Given the description of an element on the screen output the (x, y) to click on. 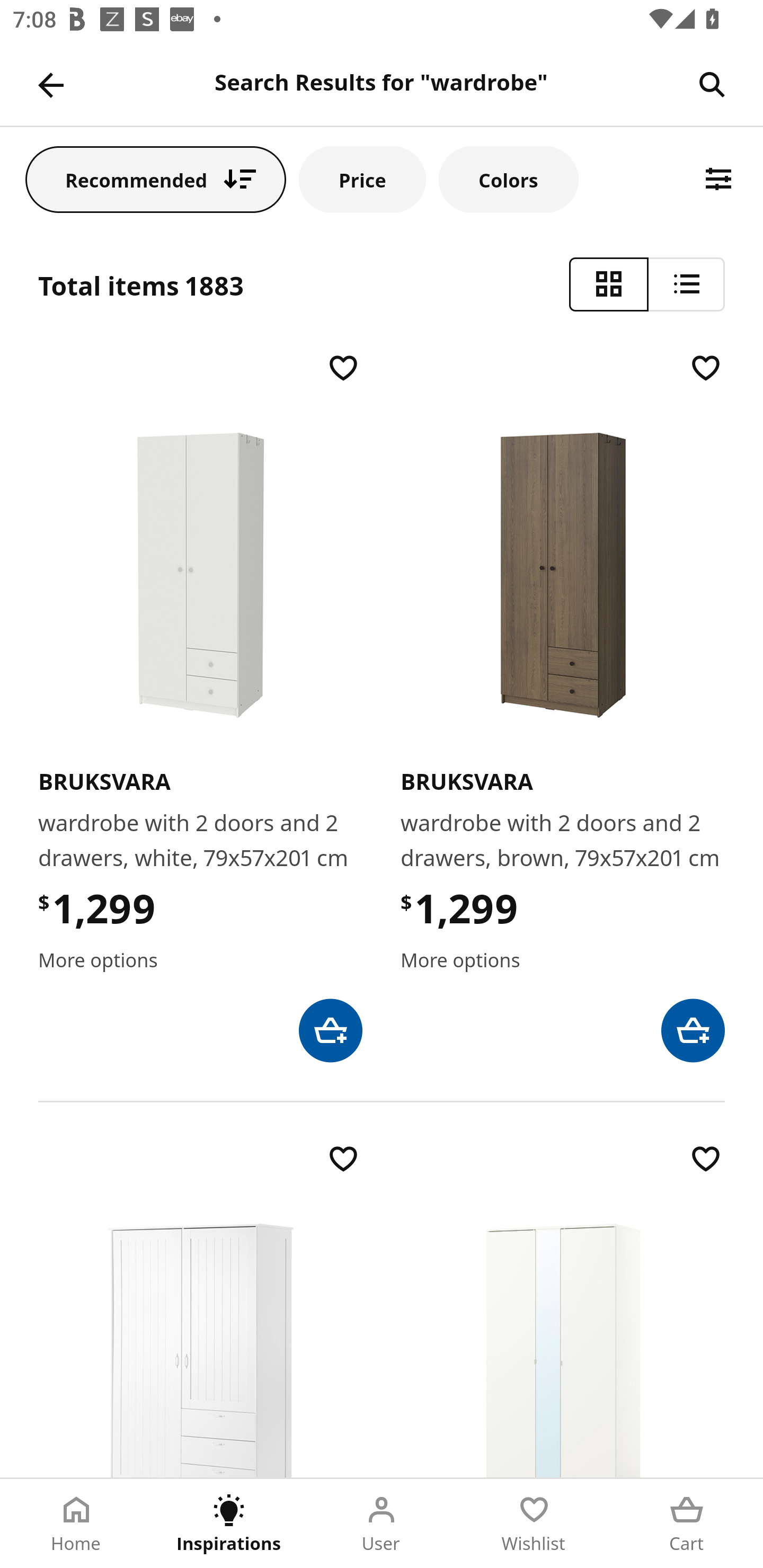
Recommended (155, 179)
Price (362, 179)
Colors (508, 179)
Home
Tab 1 of 5 (76, 1522)
Inspirations
Tab 2 of 5 (228, 1522)
User
Tab 3 of 5 (381, 1522)
Wishlist
Tab 4 of 5 (533, 1522)
Cart
Tab 5 of 5 (686, 1522)
